Given the description of an element on the screen output the (x, y) to click on. 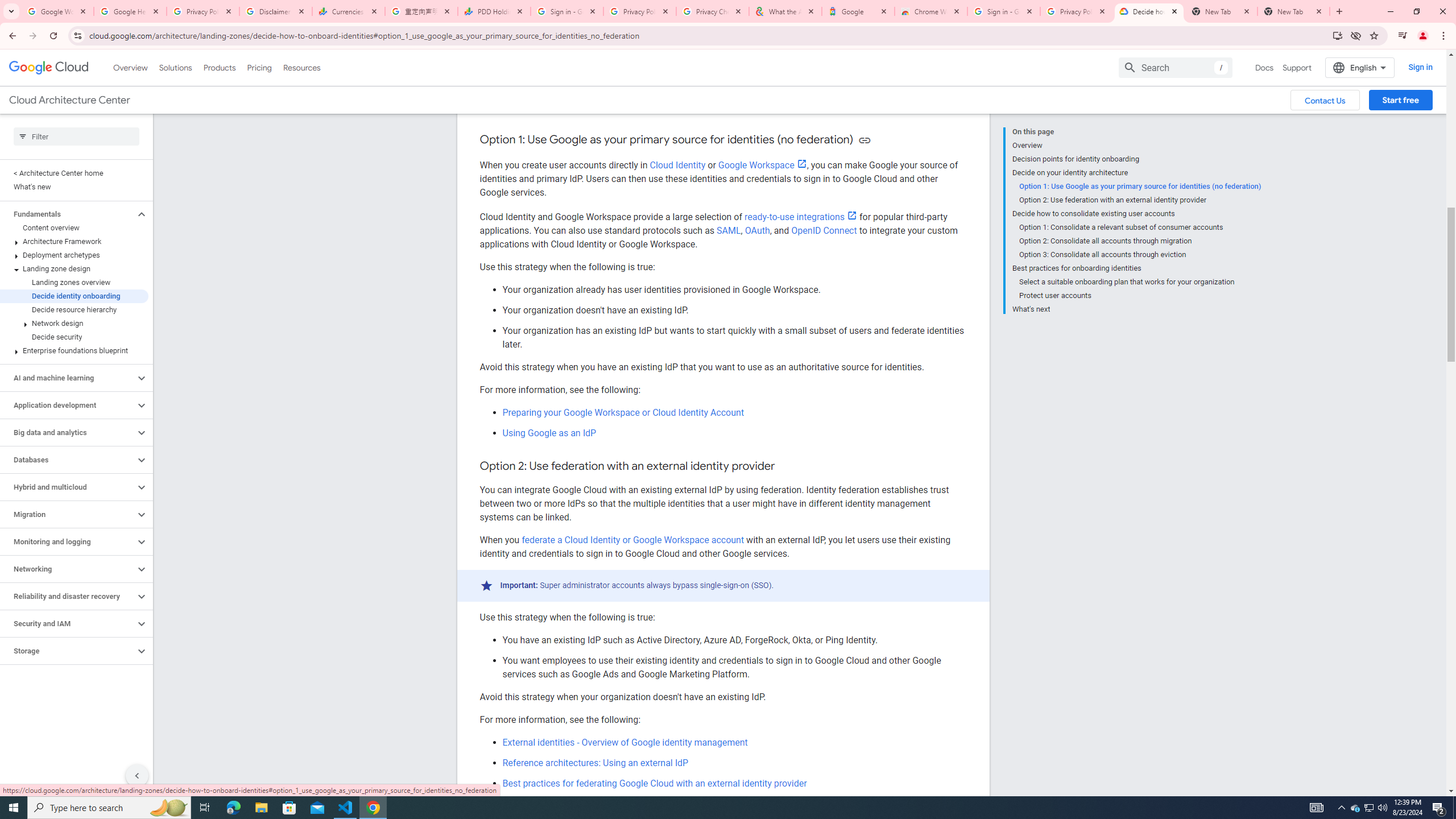
New Tab (1293, 11)
Google Workspace Admin Community (57, 11)
Sign in - Google Accounts (566, 11)
Storage (67, 650)
Reference architectures: Using an external IdP (595, 762)
Landing zone design (74, 269)
federate a Cloud Identity or Google Workspace account (632, 539)
Google Cloud (48, 67)
What's next (1135, 307)
Option 2: Consolidate all accounts through migration (1139, 241)
Hybrid and multicloud (67, 486)
Architecture Framework (74, 241)
External identities - Overview of Google identity management (625, 742)
